Given the description of an element on the screen output the (x, y) to click on. 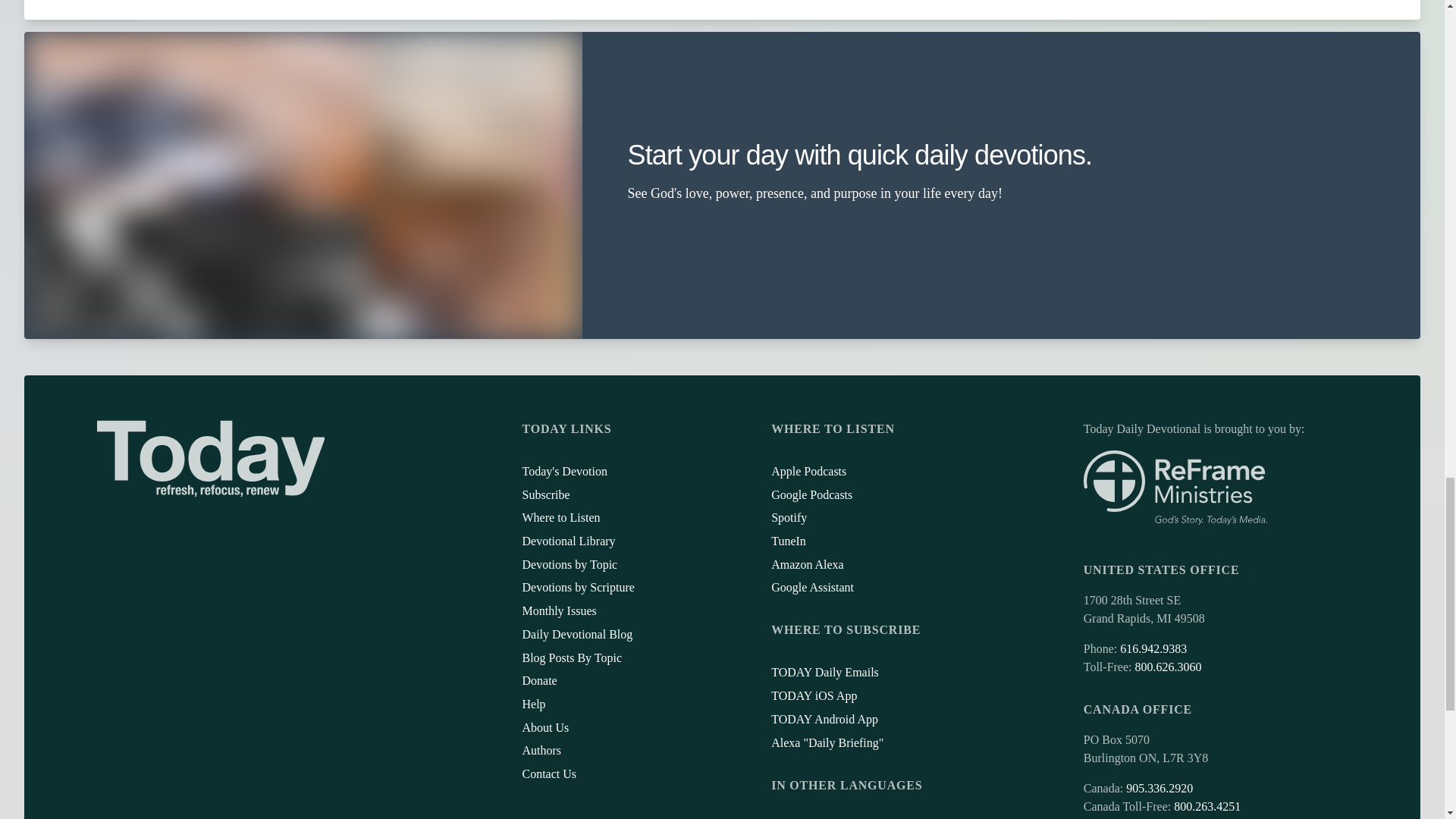
Today's Devotion (564, 471)
Devotions by Scripture (577, 586)
Donate (538, 680)
Blog Posts By Topic (571, 657)
Help (532, 703)
Monthly Issues (558, 610)
Where to Listen (560, 517)
ReFrame Ministries: God's story. Today's media. (1174, 487)
Devotions by Topic (569, 563)
Daily Devotional Blog (576, 634)
